Given the description of an element on the screen output the (x, y) to click on. 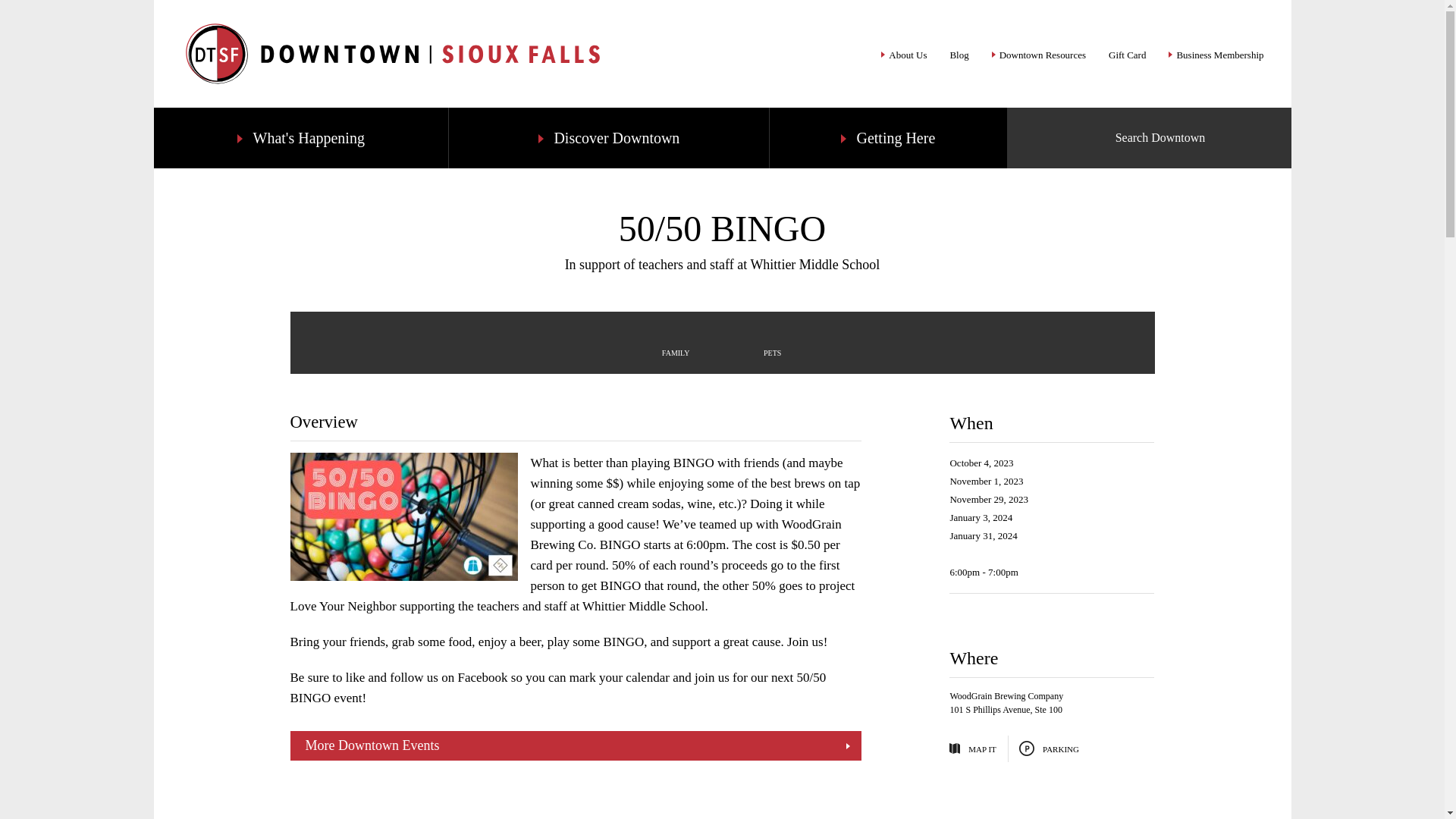
Blog (958, 54)
Discover Downtown (608, 137)
Downtown Sioux Falls, SD (391, 53)
Business Membership (1216, 54)
What's Happening (300, 137)
About Us (903, 54)
Downtown Resources (1038, 54)
Gift Card (1127, 54)
